Given the description of an element on the screen output the (x, y) to click on. 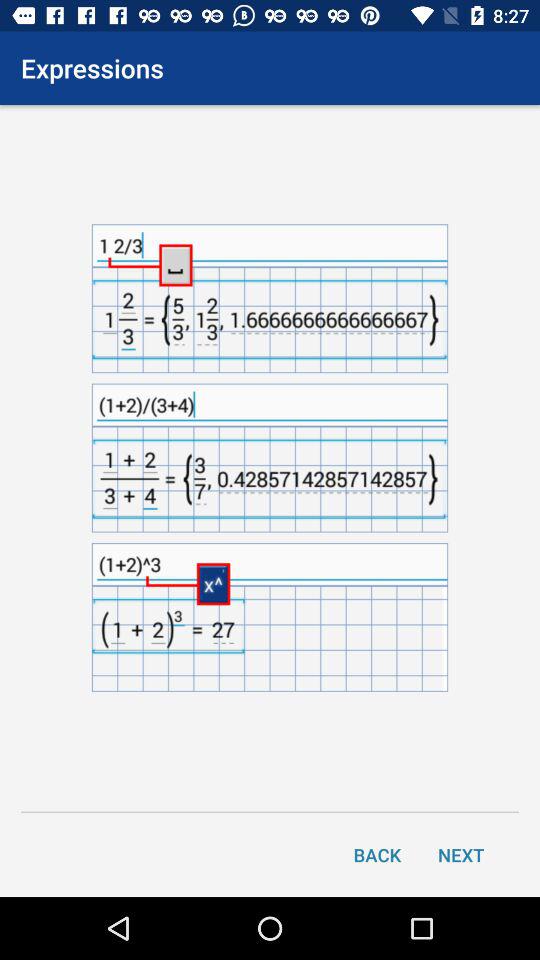
tap next item (461, 854)
